Given the description of an element on the screen output the (x, y) to click on. 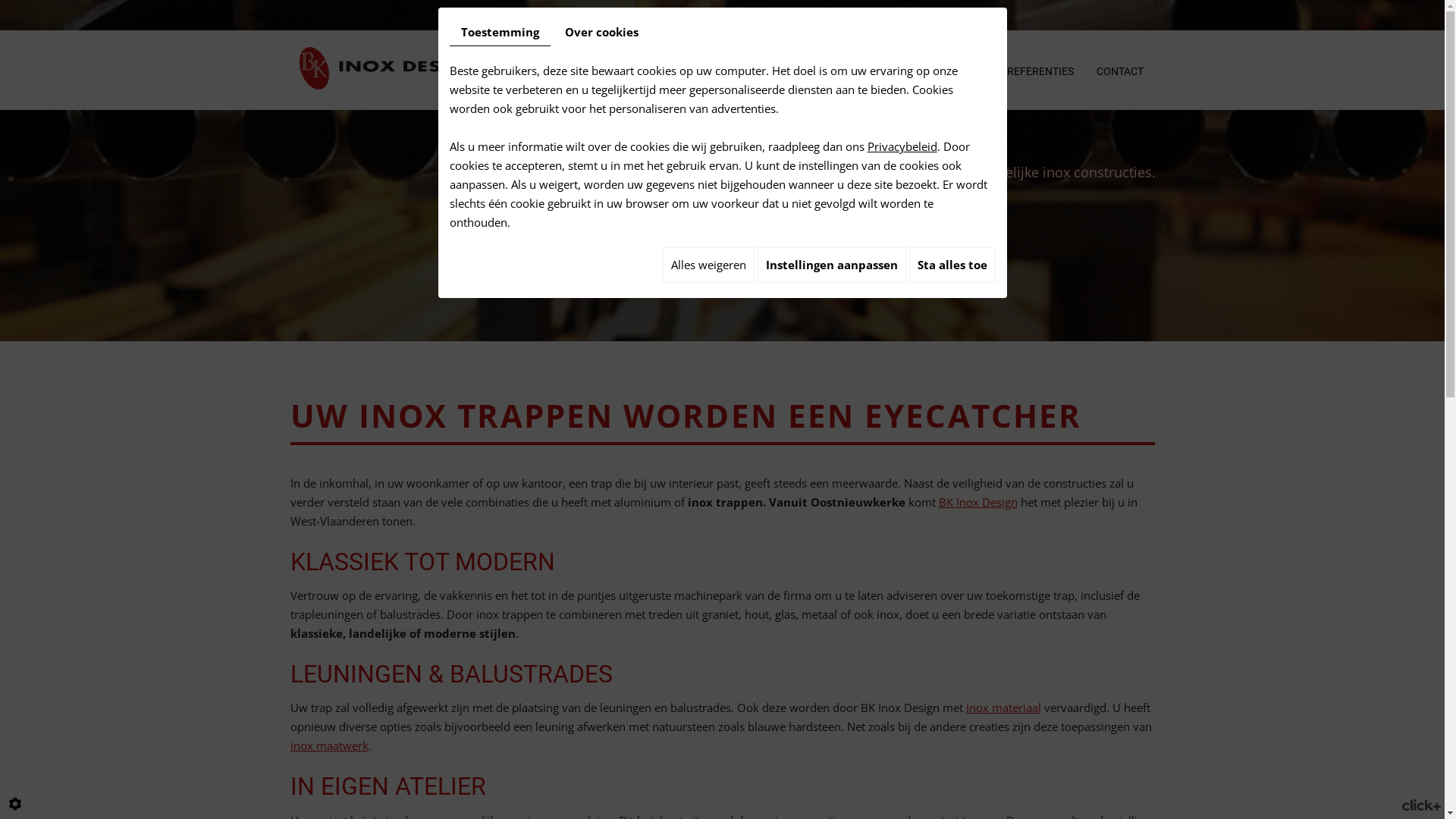
MAATWERK Element type: text (879, 71)
Privacybeleid Element type: text (902, 145)
inox materiaal Element type: text (1003, 707)
REFERENTIES Element type: text (1039, 71)
Cookie-instelling bewerken Element type: text (14, 803)
inox maatwerk Element type: text (328, 745)
HOME Element type: text (525, 71)
INDUSTRIE Element type: text (957, 71)
BK Inox Design Element type: text (977, 501)
CONTACT Element type: text (1119, 71)
Toestemming Element type: text (498, 32)
Alles weigeren Element type: text (708, 264)
KEUKENS & WERKBLADEN Element type: text (626, 71)
Instellingen aanpassen Element type: text (830, 264)
TRAPPEN & LEUNINGEN Element type: text (770, 71)
Sta alles toe Element type: text (951, 264)
BK Inox Design Element type: hover (391, 66)
Over cookies Element type: text (601, 31)
